Given the description of an element on the screen output the (x, y) to click on. 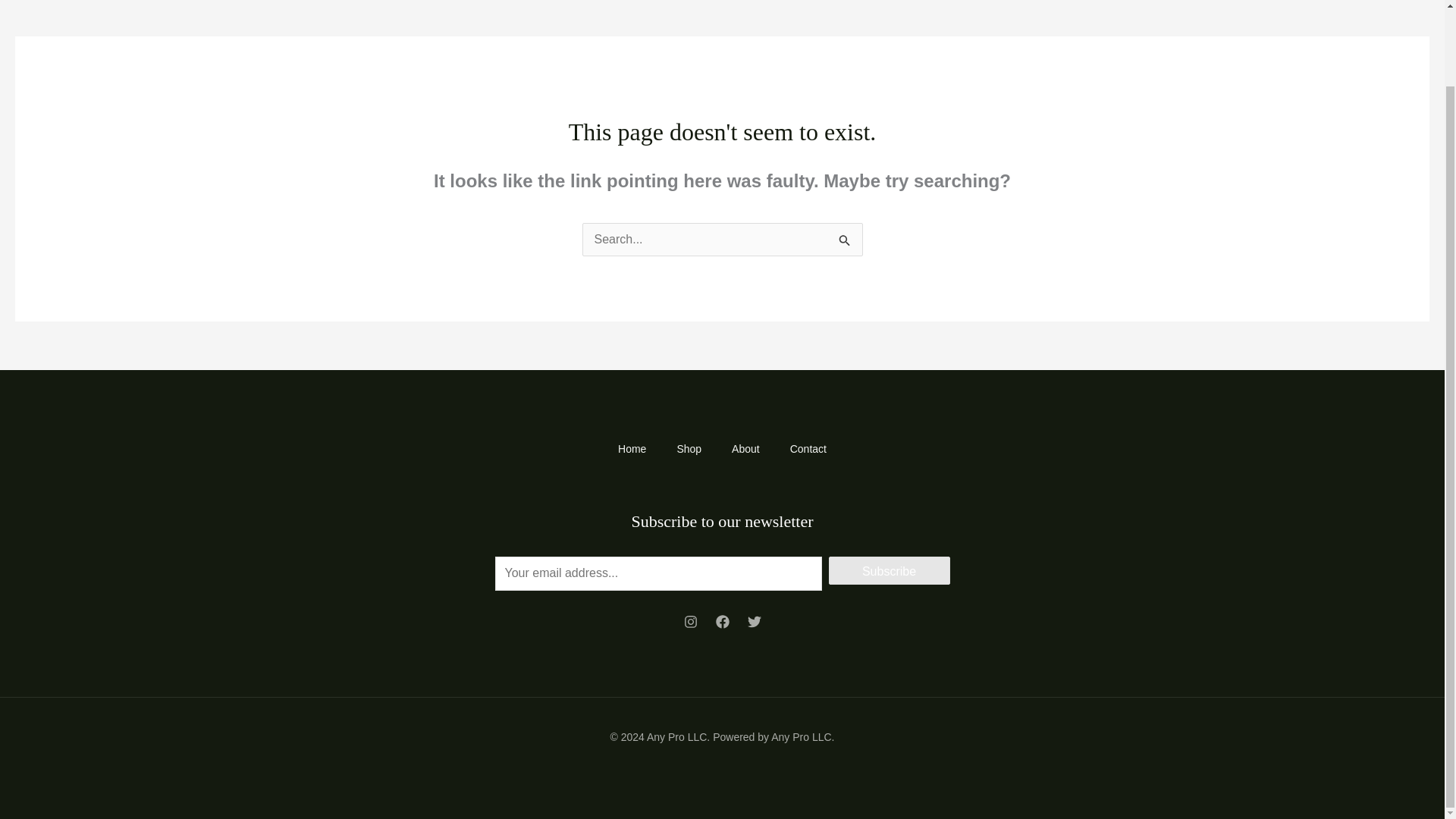
About (745, 449)
Contact (807, 449)
wpforms-submit (888, 569)
Home (631, 449)
Shop (688, 449)
